Given the description of an element on the screen output the (x, y) to click on. 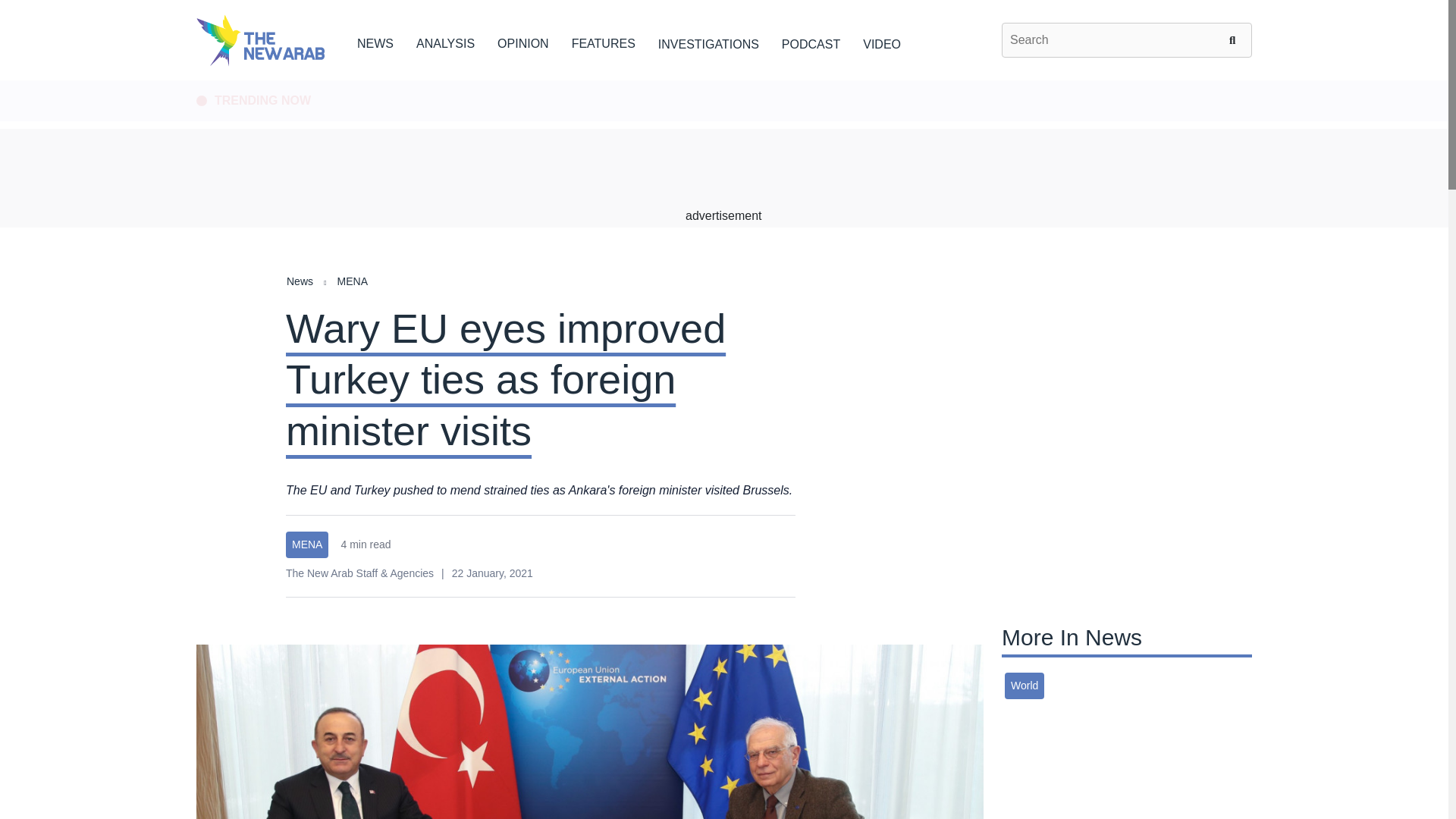
Search (1234, 39)
OPINION (523, 41)
Skip to main content (724, 81)
ANALYSIS (445, 41)
NEWS (375, 41)
